Given the description of an element on the screen output the (x, y) to click on. 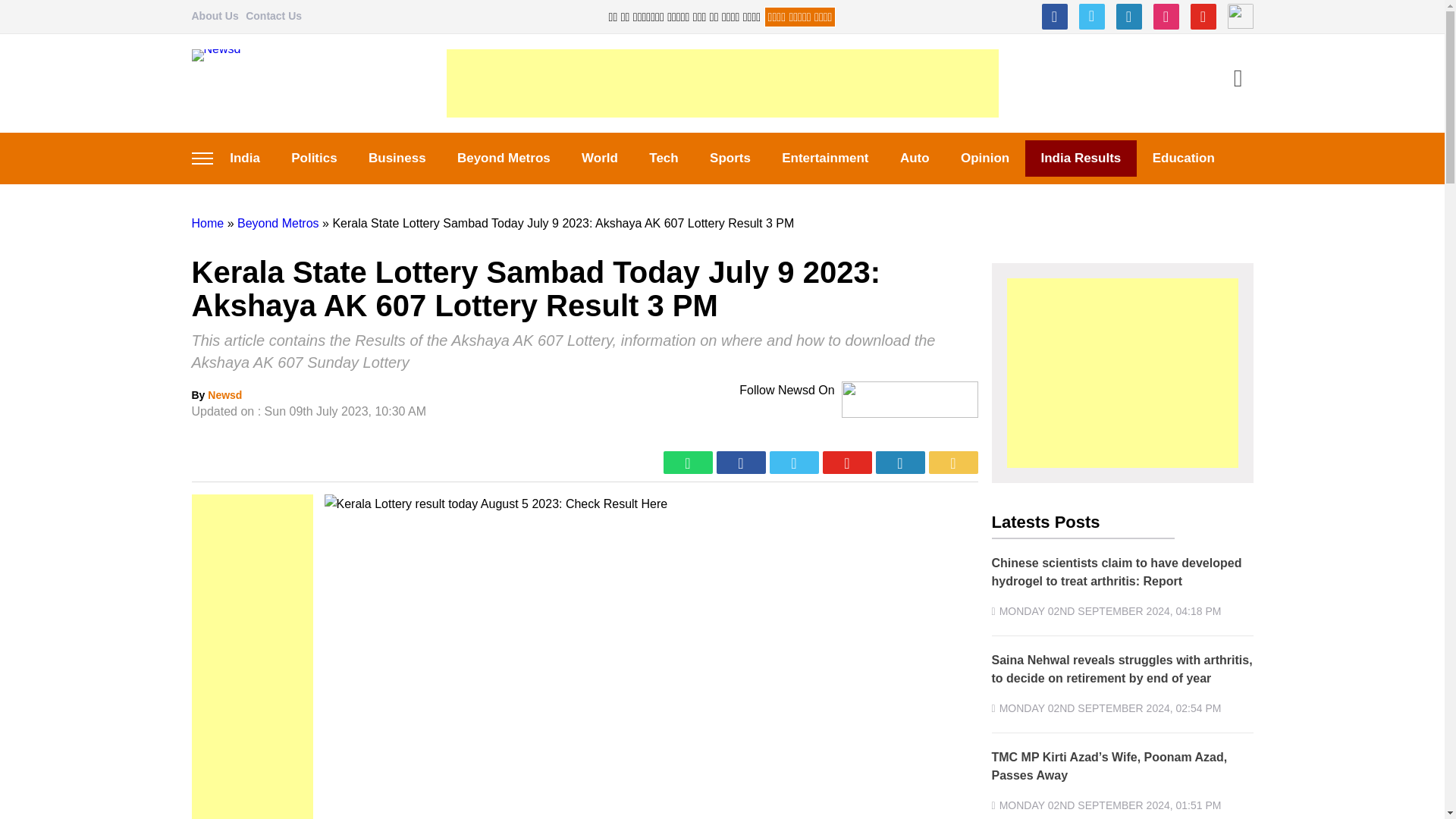
Home (207, 223)
Linkedin (1128, 16)
World (599, 158)
Entertainment (826, 158)
About Us (214, 15)
Twitter (1090, 16)
Tech (663, 158)
Google Follow (1239, 16)
Beyond Metros (277, 223)
Auto (913, 158)
